Given the description of an element on the screen output the (x, y) to click on. 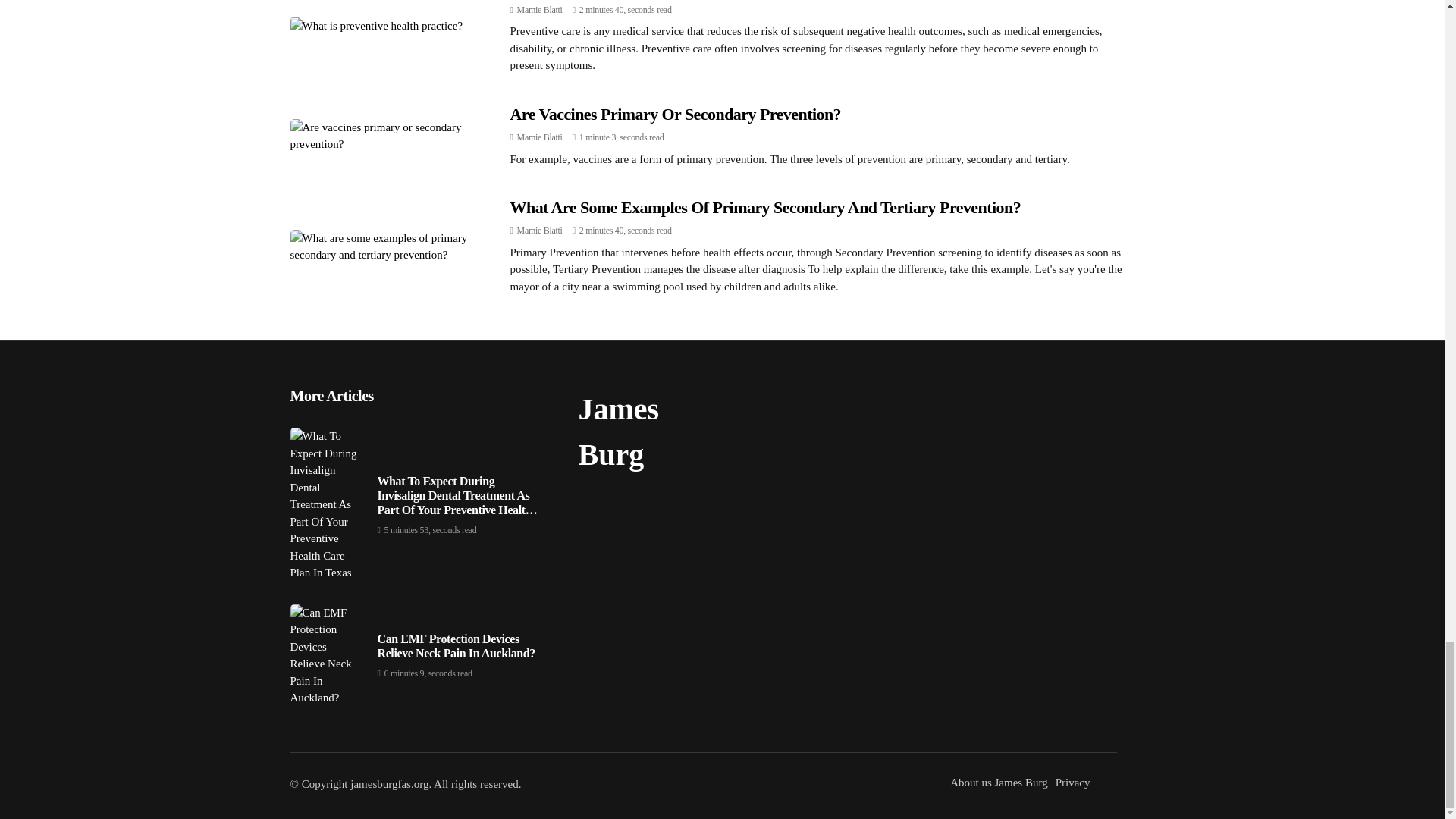
Posts by Mamie Blatti (539, 230)
Mamie Blatti (539, 230)
Are Vaccines Primary Or Secondary Prevention? (675, 113)
Posts by Mamie Blatti (539, 136)
Mamie Blatti (539, 136)
Posts by Mamie Blatti (539, 9)
Mamie Blatti (539, 9)
